Given the description of an element on the screen output the (x, y) to click on. 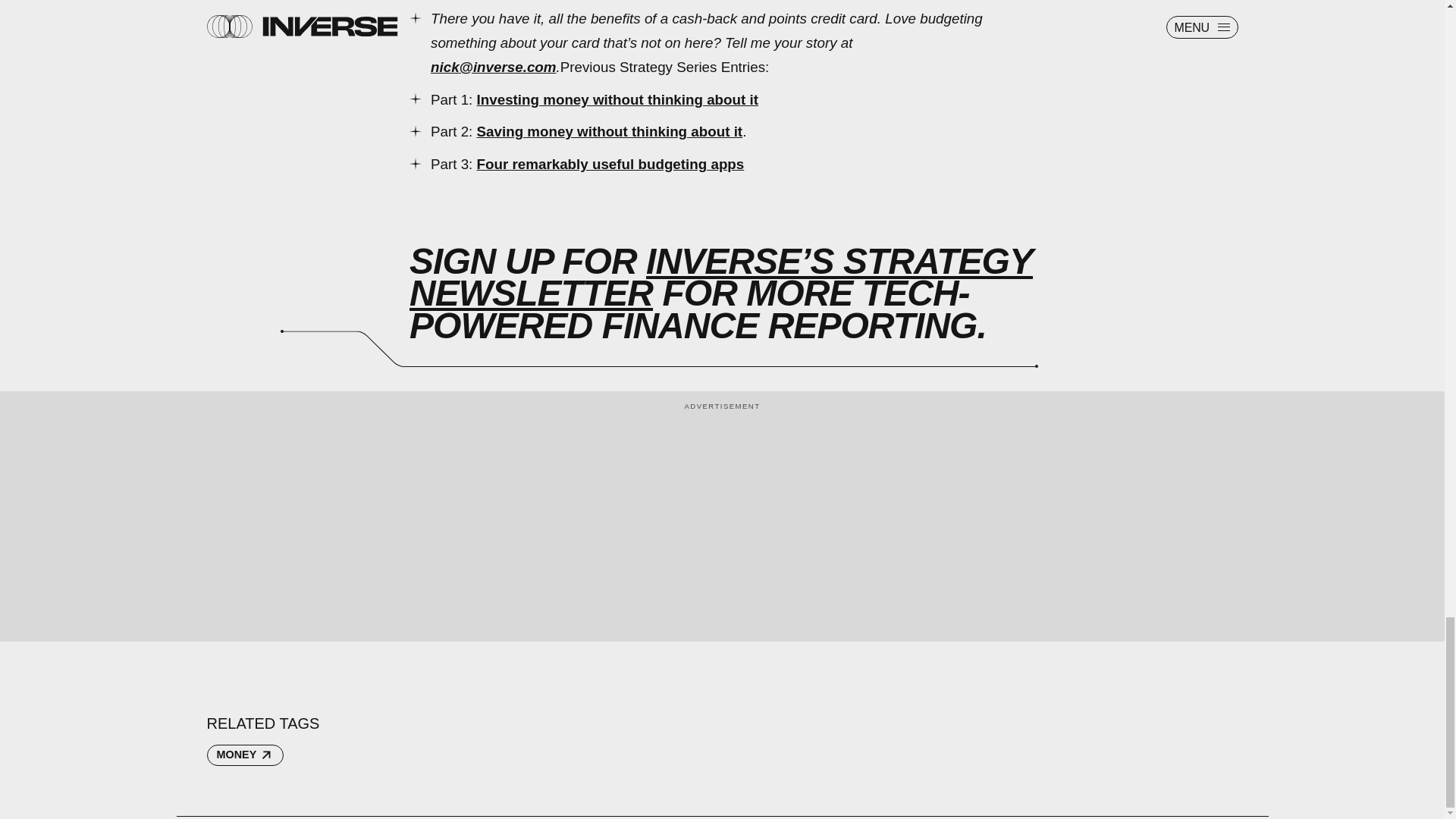
MONEY (244, 754)
Investing money without thinking about it (617, 99)
Four remarkably useful budgeting apps (610, 163)
Saving money without thinking about it (609, 131)
